Given the description of an element on the screen output the (x, y) to click on. 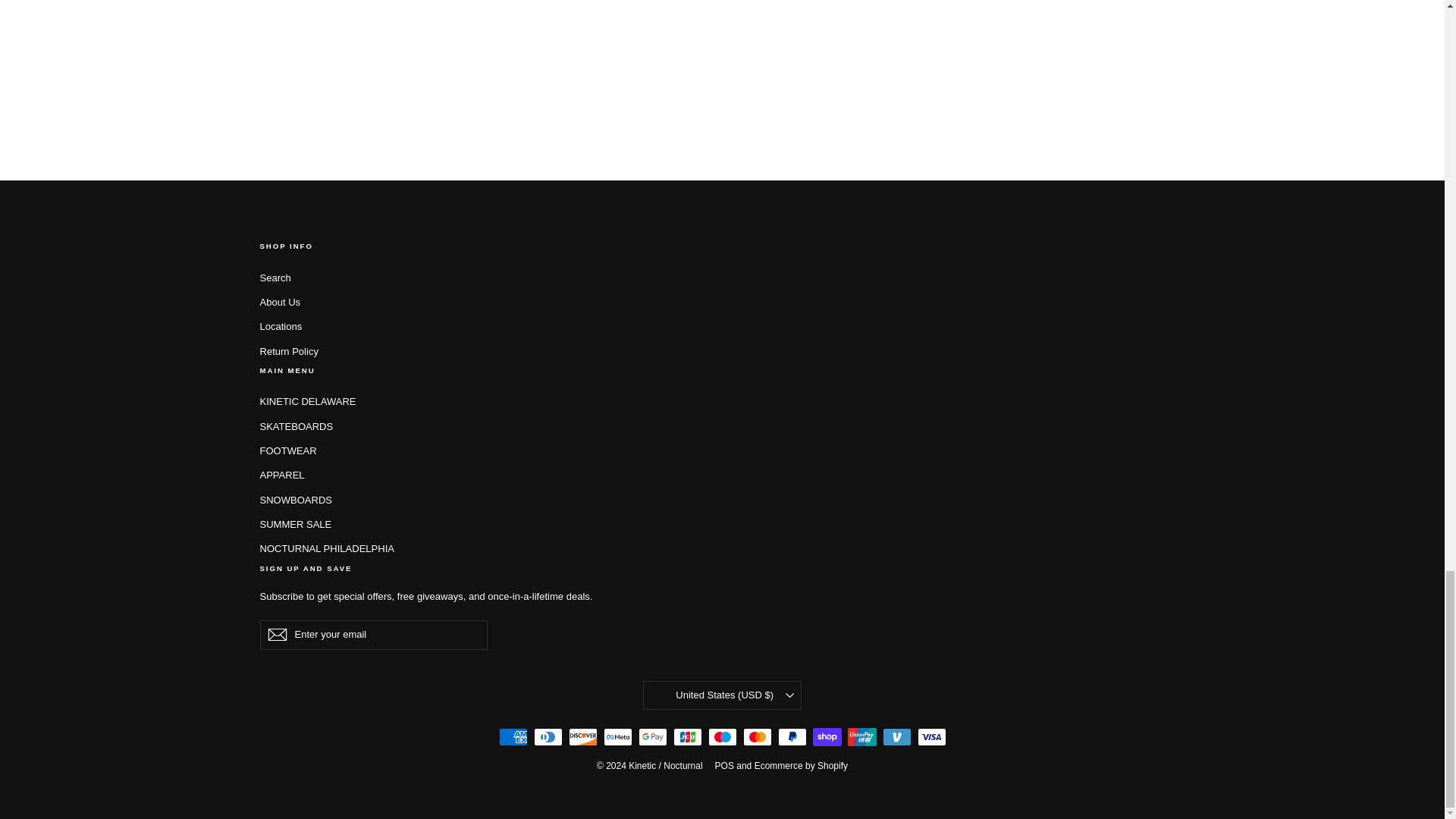
Diners Club (548, 737)
American Express (513, 737)
Google Pay (652, 737)
JCB (686, 737)
Maestro (721, 737)
Mastercard (756, 737)
Meta Pay (617, 737)
Discover (582, 737)
icon-email (276, 634)
